Given the description of an element on the screen output the (x, y) to click on. 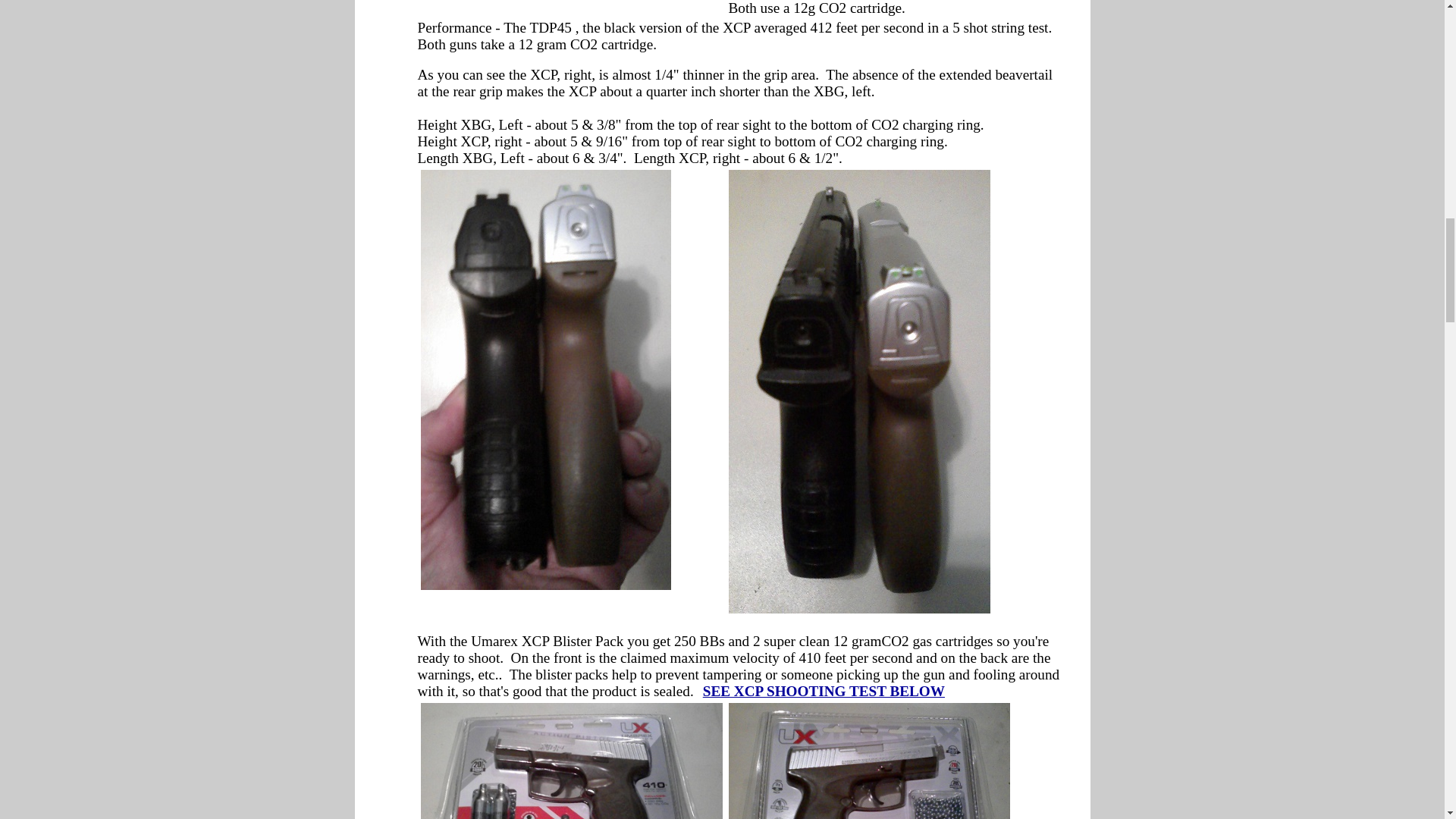
SEE XCP SHOOTING TEST BELOW (823, 691)
